Given the description of an element on the screen output the (x, y) to click on. 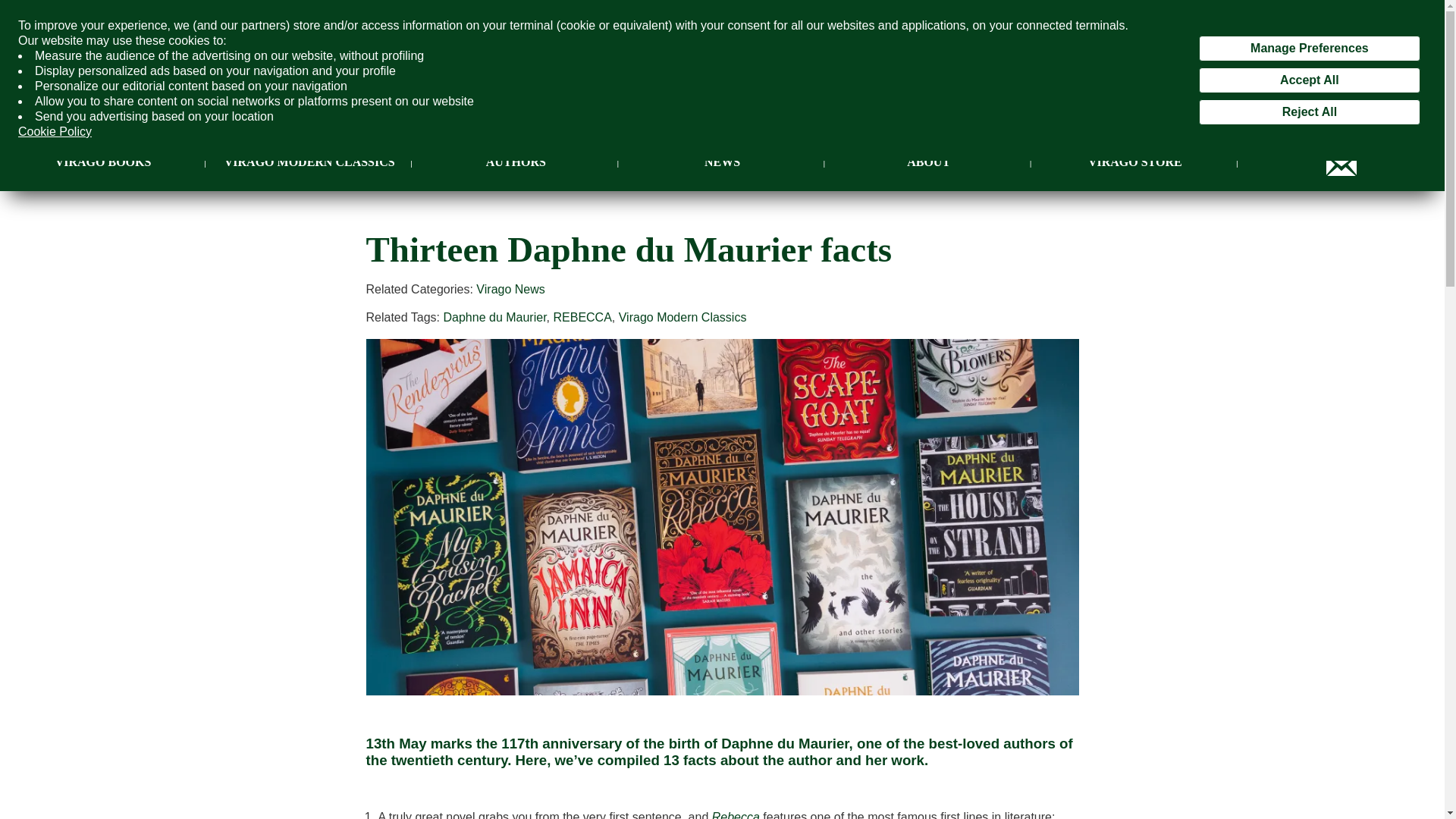
VIRAGO MODERN CLASSICS (309, 161)
Daphne du Maurier (494, 317)
VIRAGO STORE (1134, 161)
REBECCA (582, 317)
Cookie Policy (54, 131)
AUTHORS (515, 161)
VIRAGO BOOKS (103, 161)
Accept All (1309, 80)
NEWSLETTER (1340, 161)
ABOUT (928, 161)
NEWS (721, 161)
Manage Preferences (1309, 48)
Reject All (1309, 112)
Virago News (510, 288)
